Given the description of an element on the screen output the (x, y) to click on. 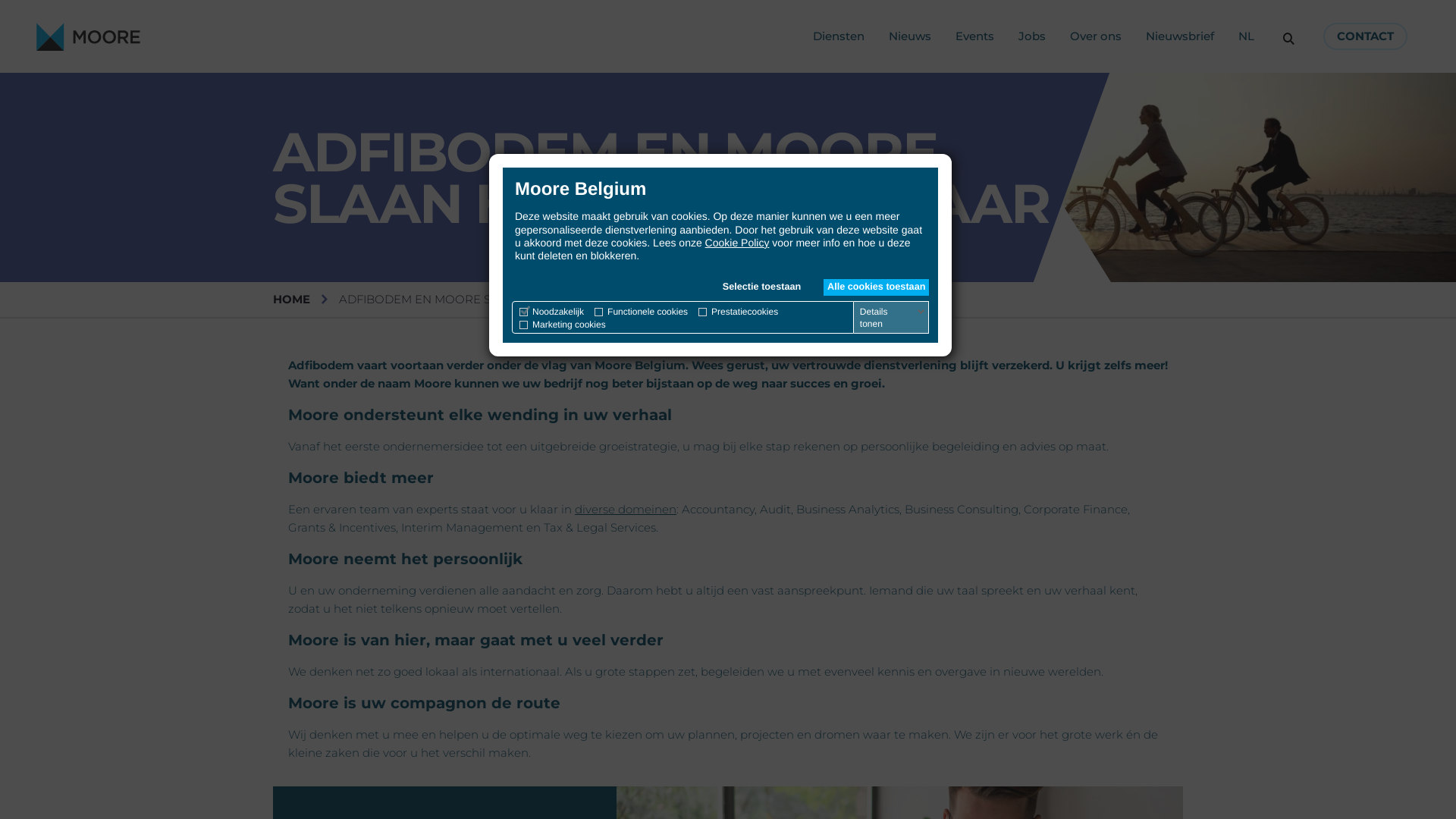
Events Element type: text (974, 36)
Over ons Element type: text (1095, 36)
Moore Element type: hover (88, 36)
Alle cookies toestaan Element type: text (875, 287)
NL Element type: text (1246, 36)
Nieuws Element type: text (909, 36)
Diensten Element type: text (838, 36)
Jobs Element type: text (1031, 36)
Nieuwsbrief Element type: text (1179, 36)
Details tonen Element type: text (892, 317)
HOME Element type: text (291, 298)
Overslaan en naar de inhoud gaan Element type: text (0, 0)
Selectie toestaan Element type: text (761, 287)
CONTACT Element type: text (1365, 36)
Cookie Policy Element type: text (737, 242)
diverse domeinen Element type: text (625, 509)
